Given the description of an element on the screen output the (x, y) to click on. 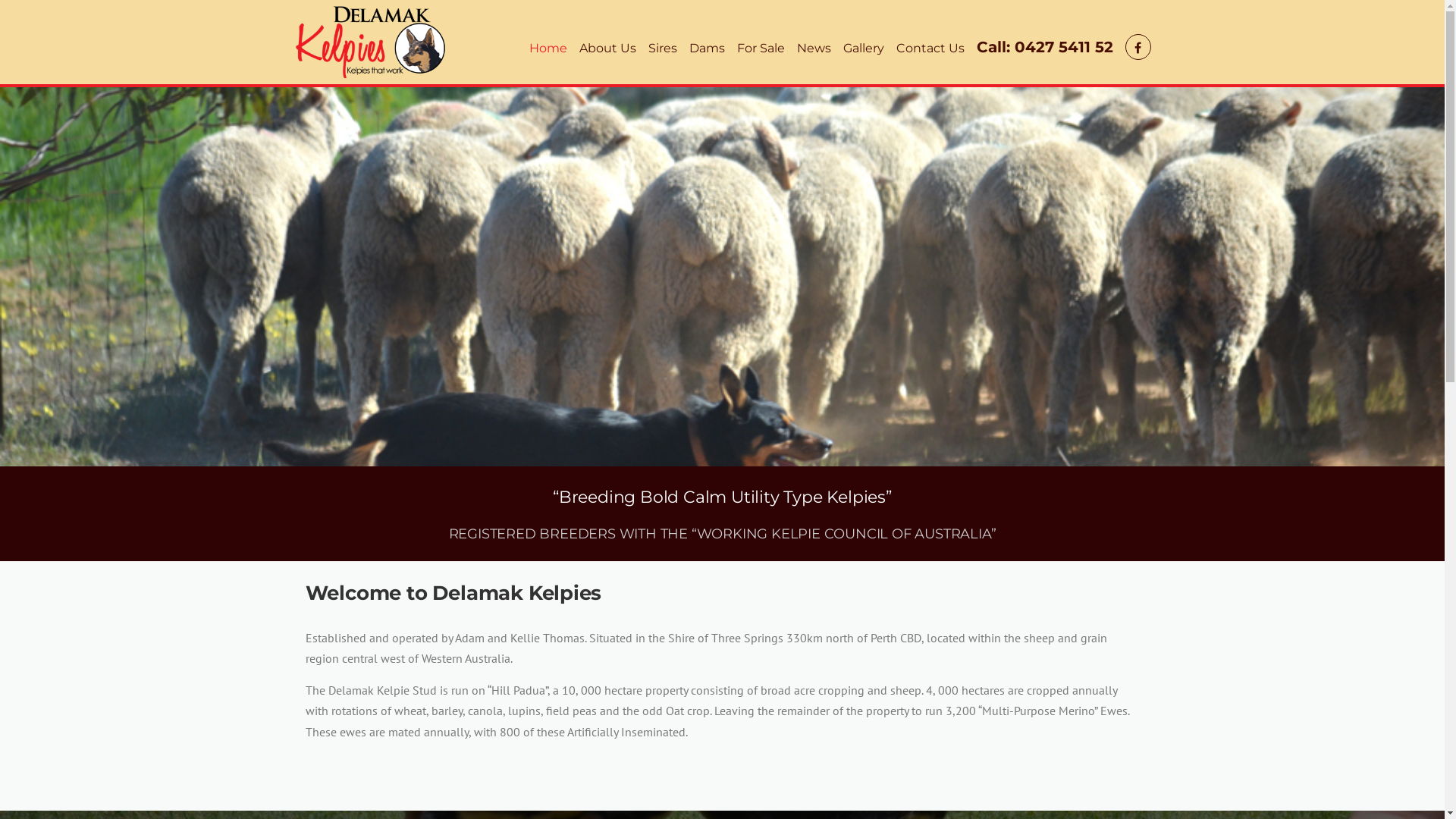
About Us Element type: text (607, 47)
News Element type: text (813, 47)
Sires Element type: text (661, 47)
Dams Element type: text (706, 47)
Call: 0427 5411 52 Element type: text (1044, 47)
Home Element type: text (548, 47)
Contact Us Element type: text (930, 47)
Gallery Element type: text (863, 47)
For Sale Element type: text (760, 47)
Delamak Kelpies | Element type: hover (369, 39)
